Given the description of an element on the screen output the (x, y) to click on. 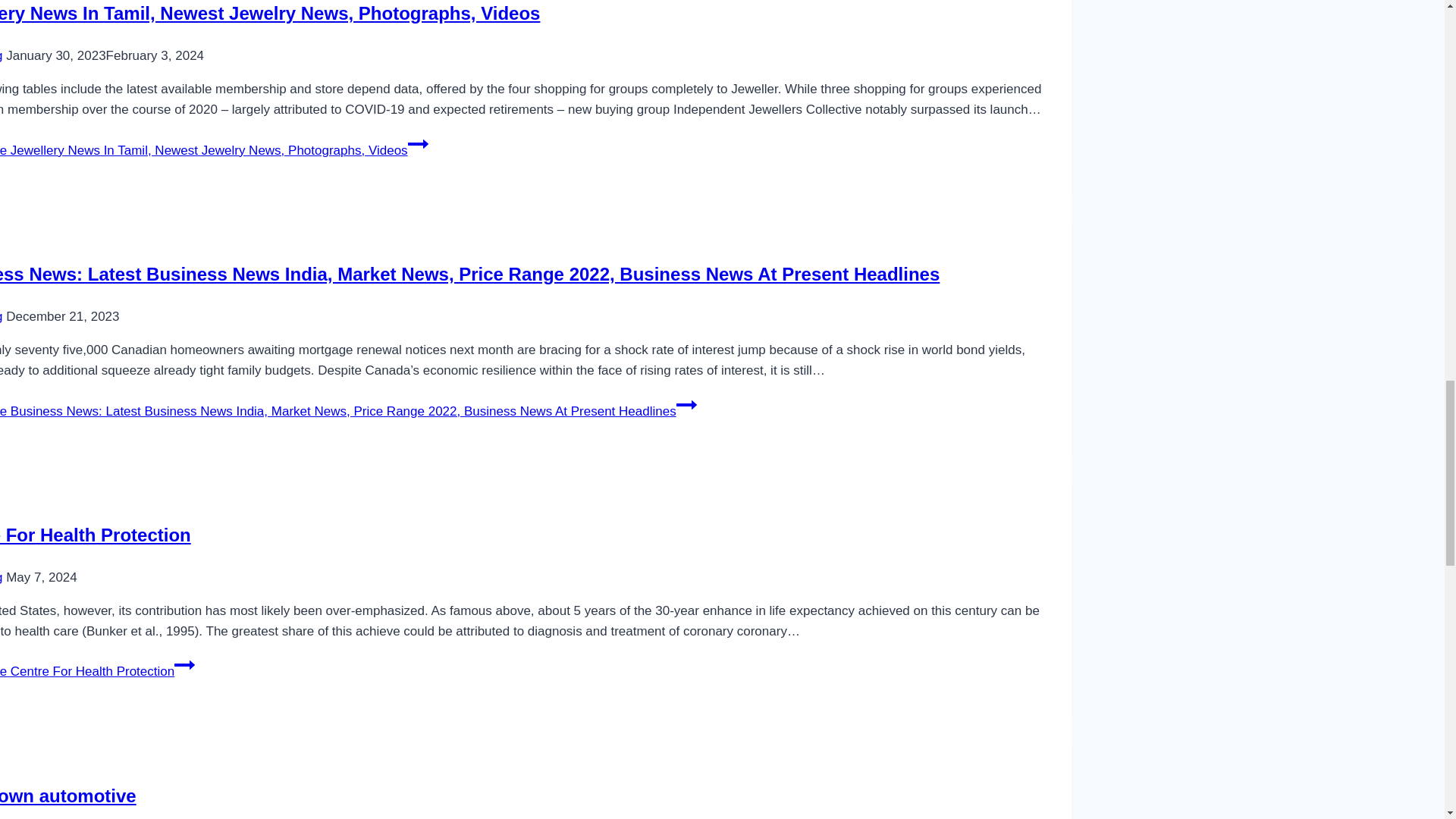
Centre For Health Protection (95, 534)
Continue (184, 664)
Continue (417, 143)
Continue (687, 404)
hometown automotive (68, 795)
Read More Centre For Health ProtectionContinue (97, 671)
